Given the description of an element on the screen output the (x, y) to click on. 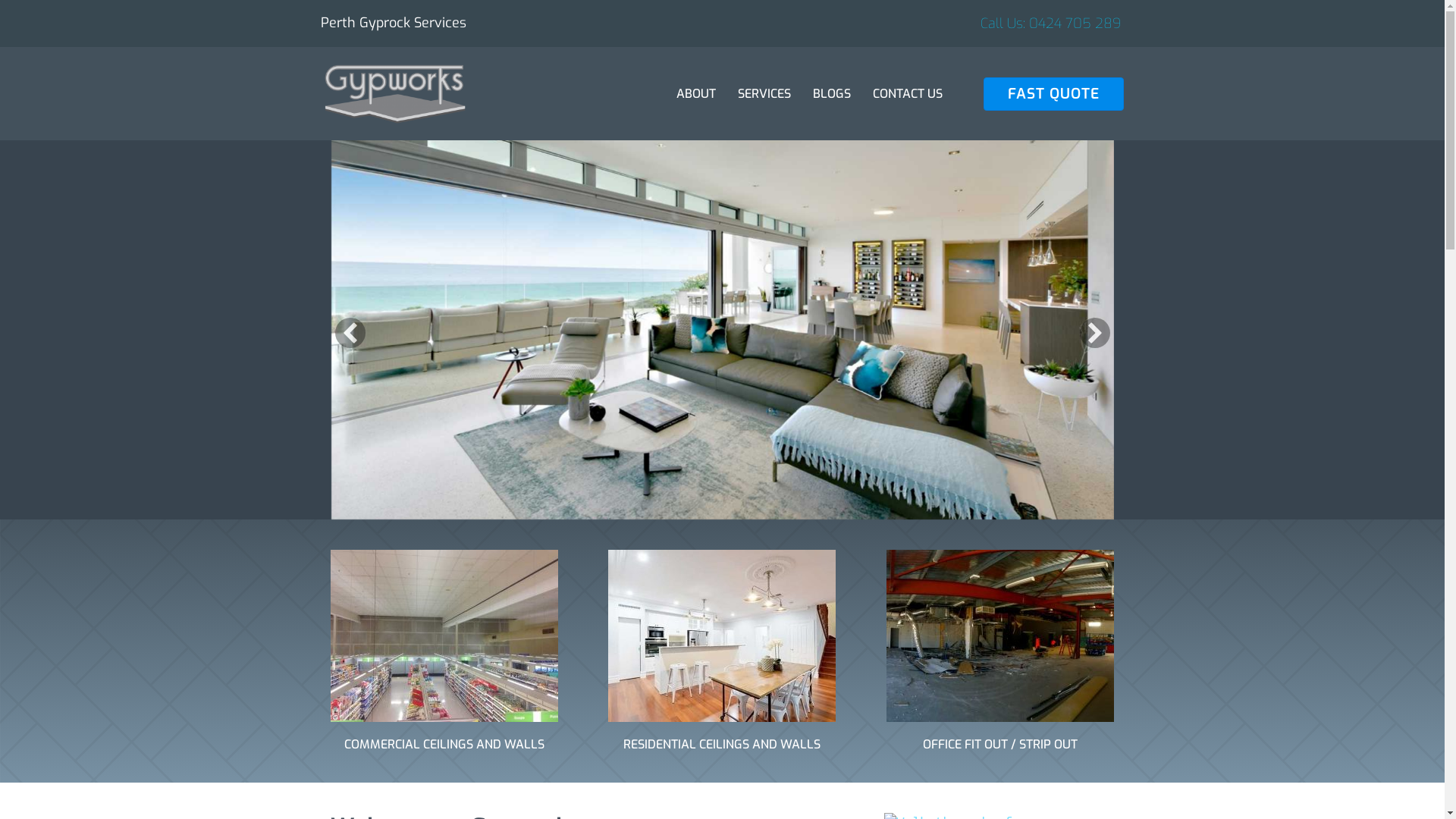
FAST QUOTE Element type: text (1053, 93)
fcacbf0890f5556ac7156678fe834ebf Element type: hover (999, 635)
ff131bc9e6dfa0e2f12e588ecc585bce Element type: hover (444, 635)
RESIDENTIAL CEILINGS AND WALLS Element type: text (721, 744)
GypWorks-logo Element type: hover (393, 93)
bb40a61e2e5baf550d3c14265f9c4ba2 Element type: hover (721, 635)
Call Us: 0424 705 289 Element type: text (1050, 23)
BLOGS Element type: text (831, 93)
OFFICE FIT OUT / STRIP OUT Element type: text (999, 744)
CONTACT US Element type: text (907, 93)
SERVICES Element type: text (764, 93)
ABOUT Element type: text (695, 93)
COMMERCIAL CEILINGS AND WALLS Element type: text (444, 744)
